Given the description of an element on the screen output the (x, y) to click on. 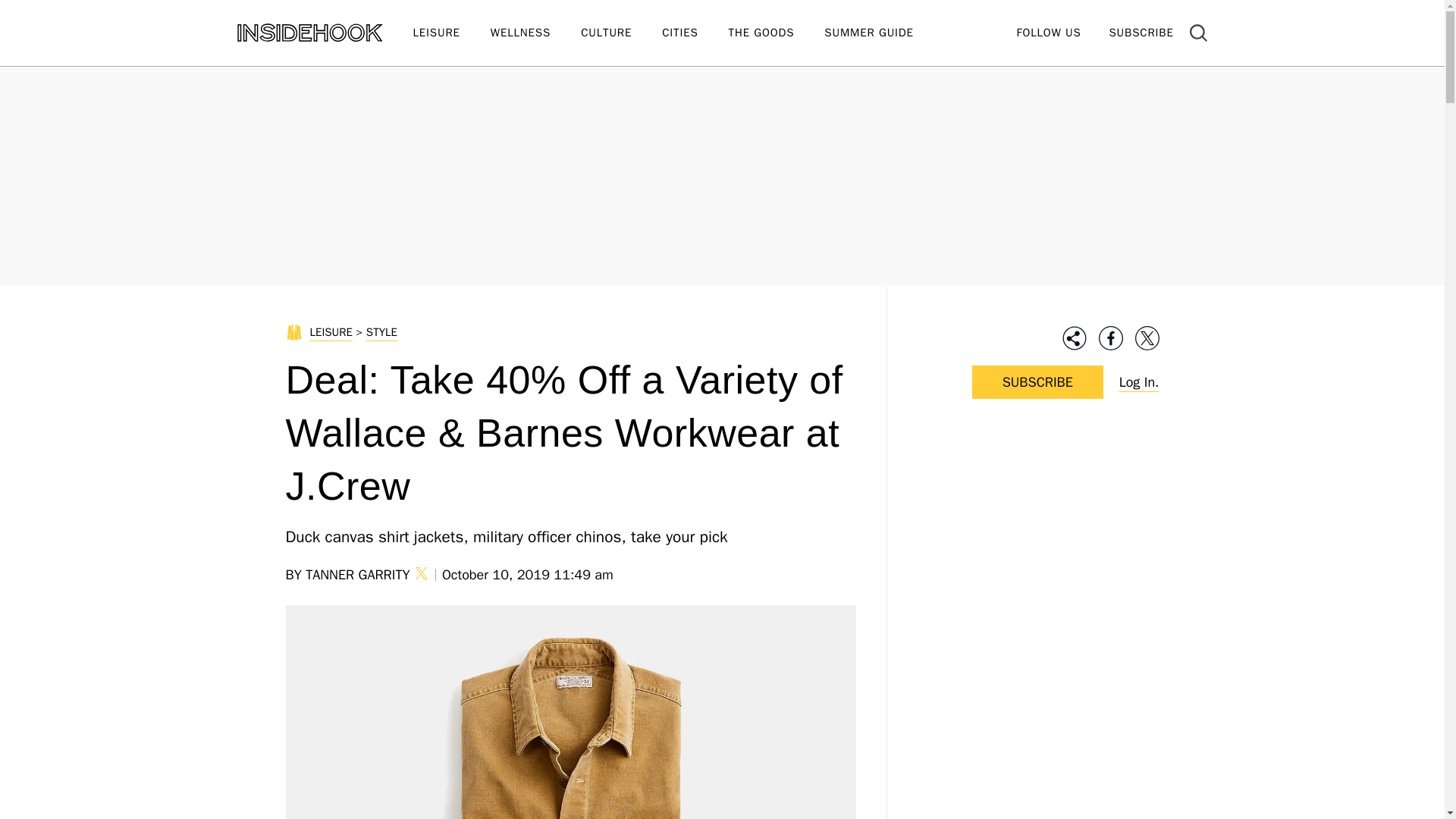
SUMMER GUIDE (883, 32)
SUBSCRIBE (1140, 32)
WELLNESS (535, 32)
FOLLOW US (1048, 32)
CITIES (695, 32)
CULTURE (621, 32)
THE GOODS (777, 32)
LEISURE (450, 32)
